Given the description of an element on the screen output the (x, y) to click on. 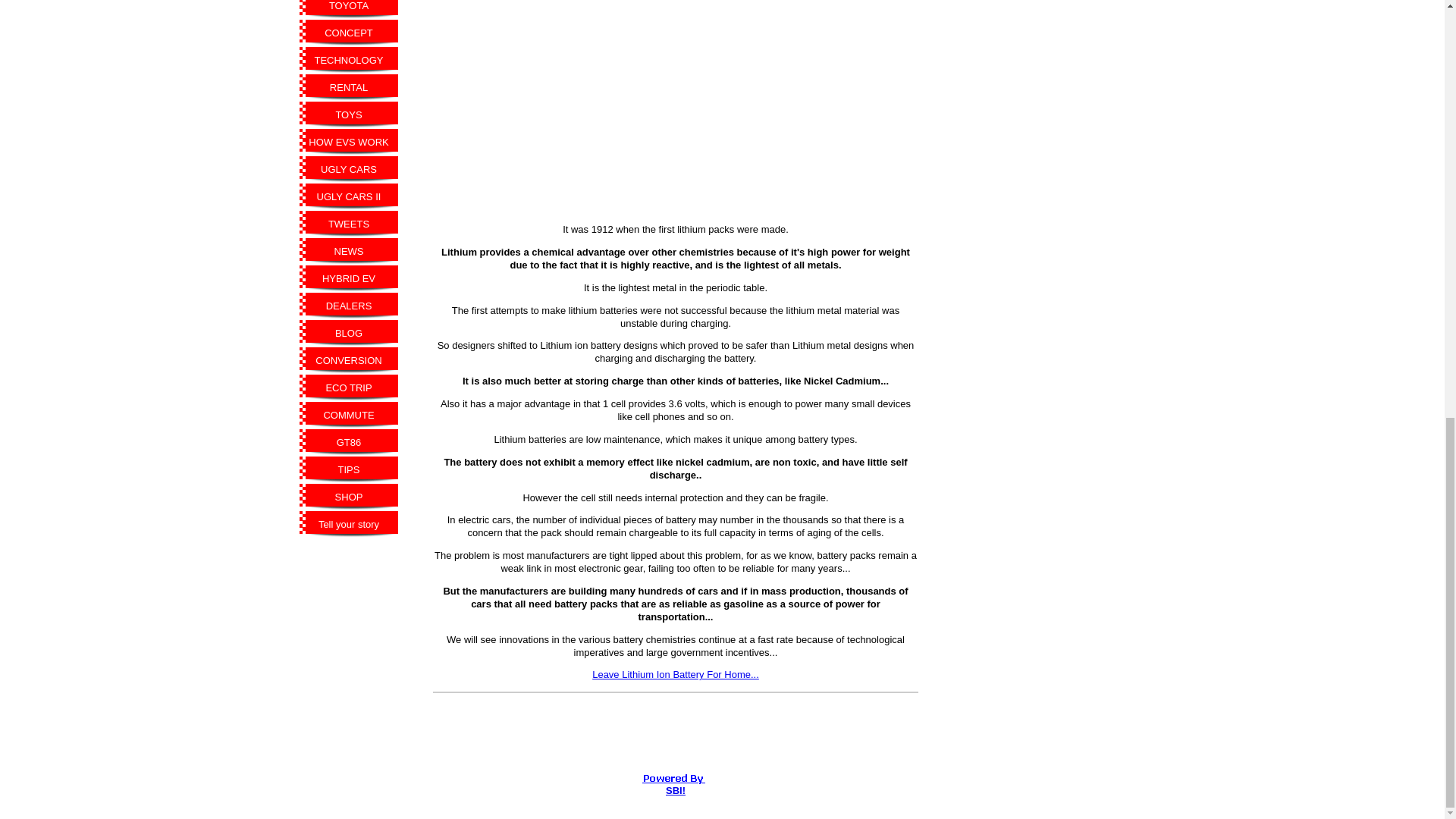
UGLY CARS II (348, 196)
RENTAL (348, 87)
CONVERSION (348, 360)
NEWS (348, 251)
BLOG (348, 333)
HOW EVS WORK (348, 142)
CONCEPT (348, 32)
TOYS (348, 114)
Leave Lithium Ion Battery For Home... (675, 674)
TWEETS (348, 224)
